Given the description of an element on the screen output the (x, y) to click on. 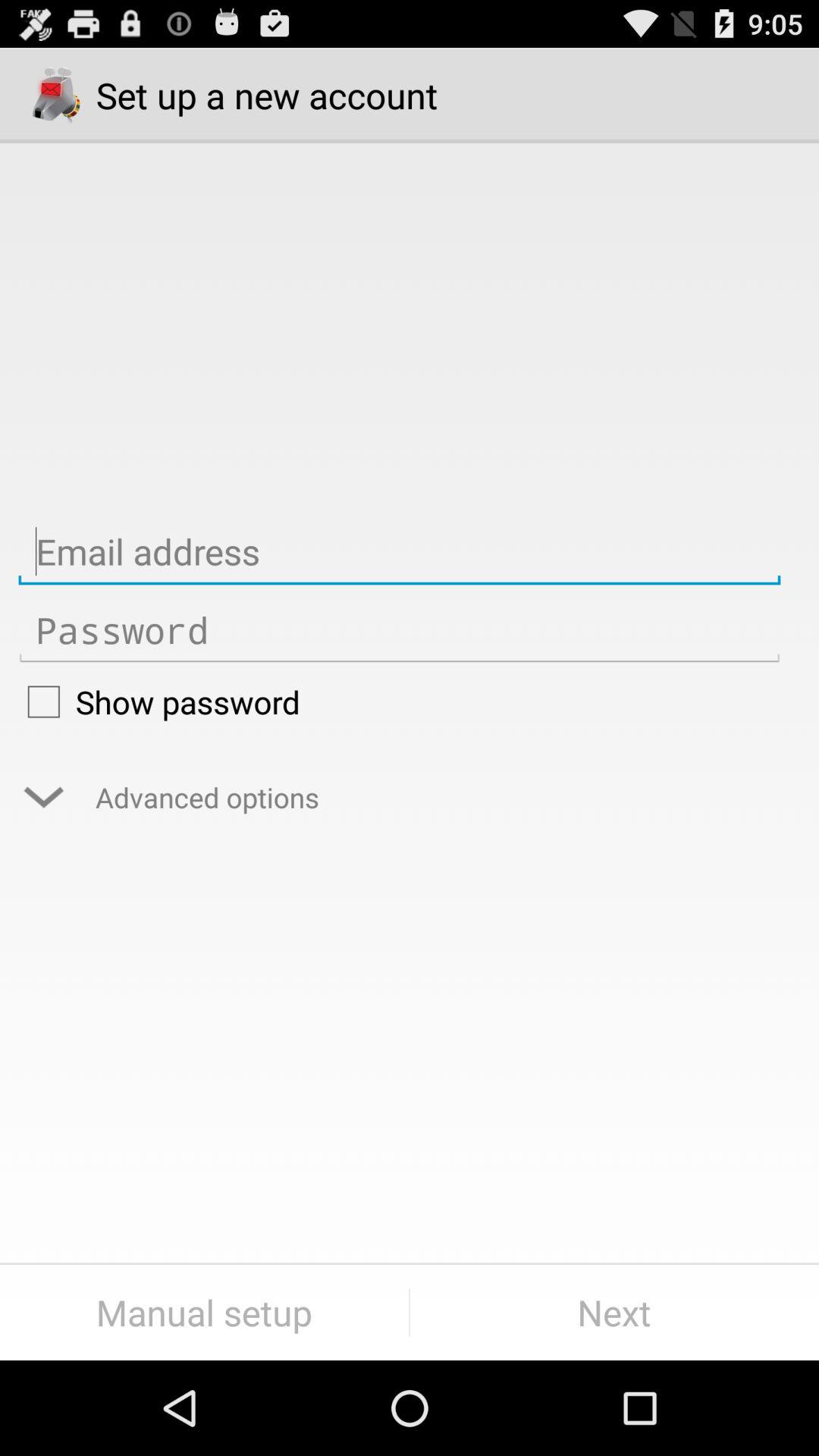
this option email password enter box (399, 630)
